Given the description of an element on the screen output the (x, y) to click on. 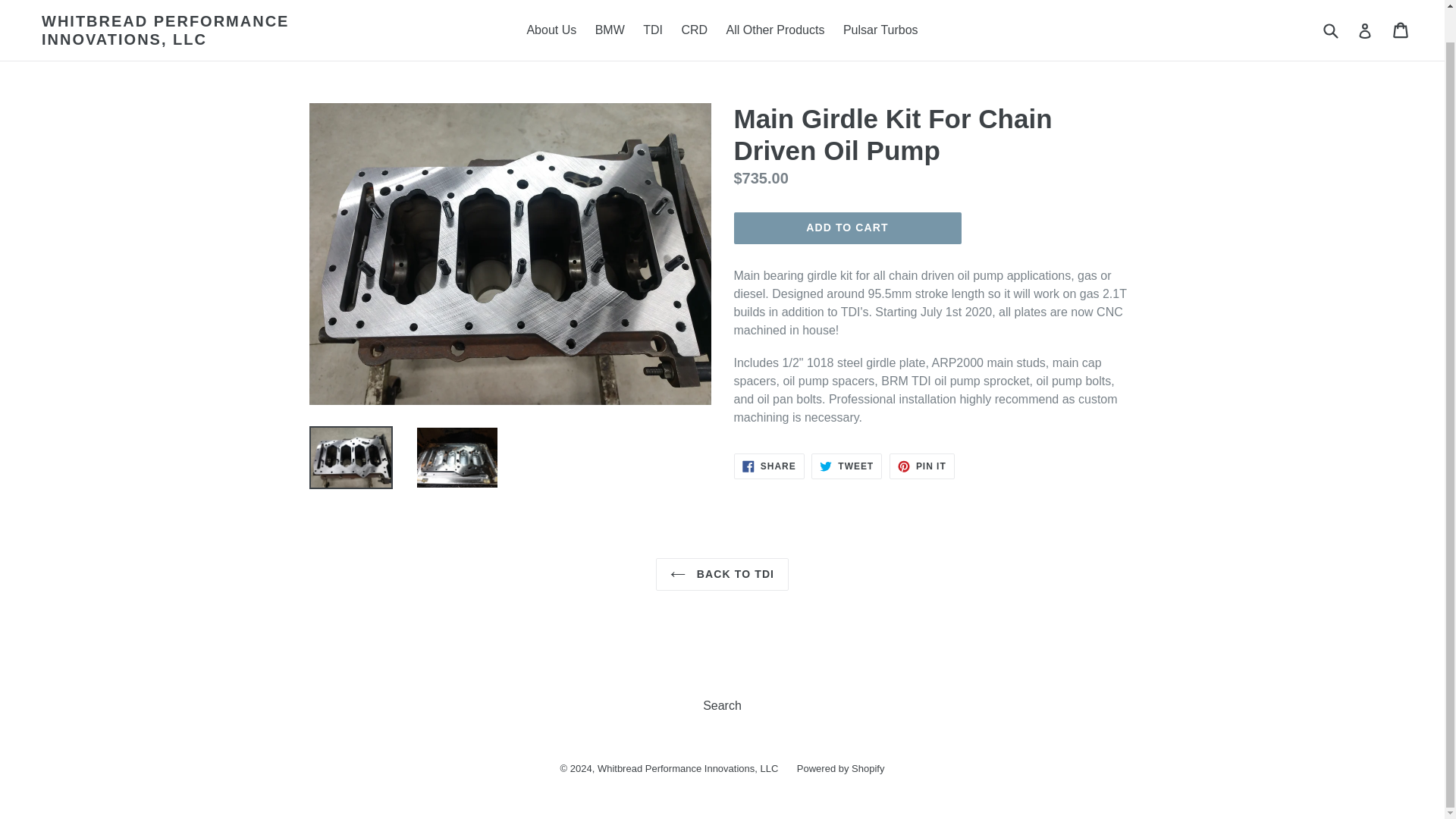
Pulsar Turbos (880, 29)
BMW (609, 29)
Pin on Pinterest (922, 466)
About Us (550, 29)
Log in (1364, 30)
Submit (1329, 29)
TDI (651, 29)
WHITBREAD PERFORMANCE INNOVATIONS, LLC (211, 30)
Share on Facebook (769, 466)
Powered by Shopify (1401, 30)
Whitbread Performance Innovations, LLC (922, 466)
BACK TO TDI (840, 767)
